Given the description of an element on the screen output the (x, y) to click on. 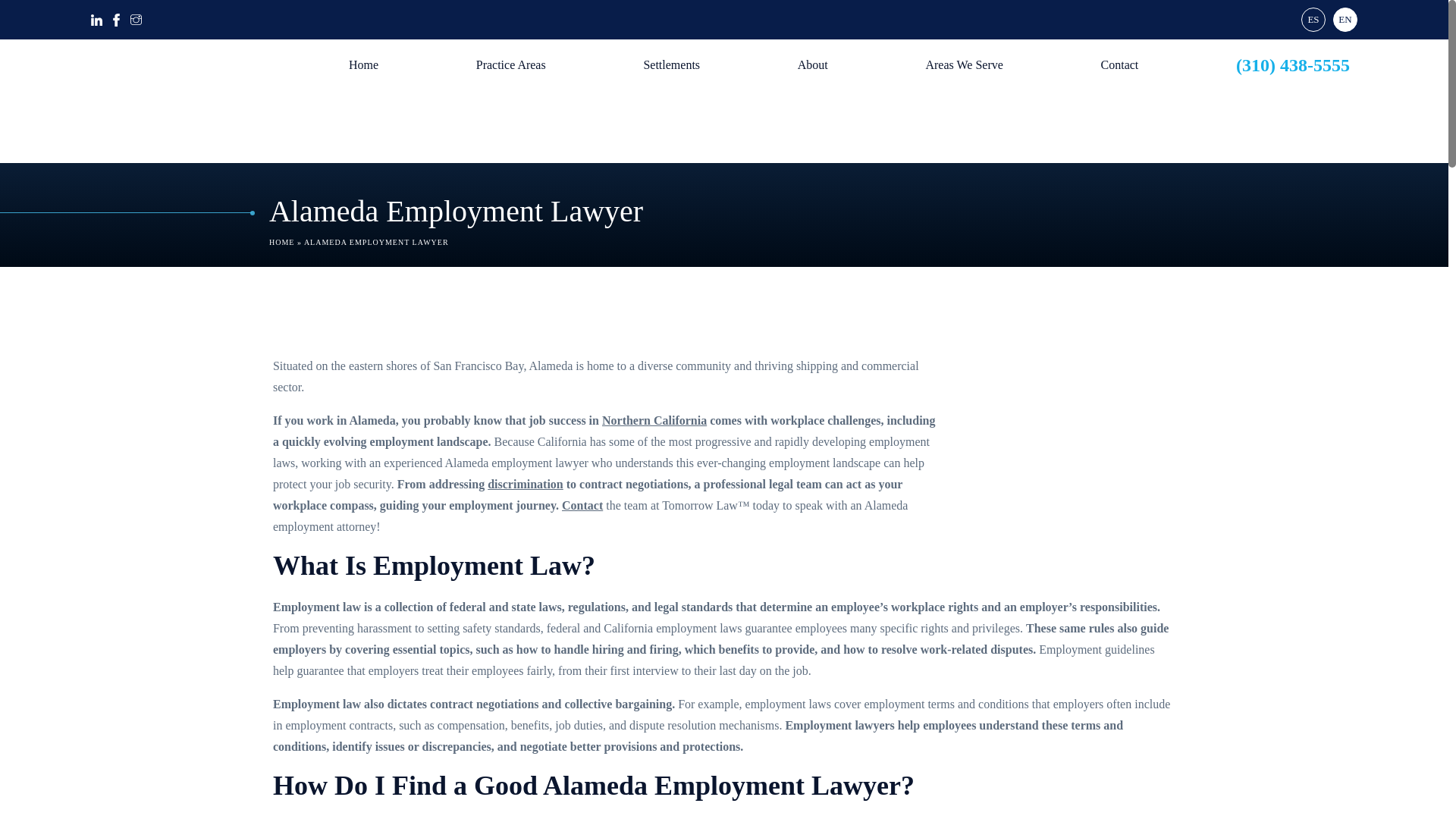
discrimination (525, 483)
EN (1344, 19)
Contact (582, 504)
ES (1312, 19)
Settlements (670, 64)
Contact (1120, 64)
Areas We Serve (963, 64)
Practice Areas (510, 64)
Northern California (654, 420)
HOME (281, 242)
